Given the description of an element on the screen output the (x, y) to click on. 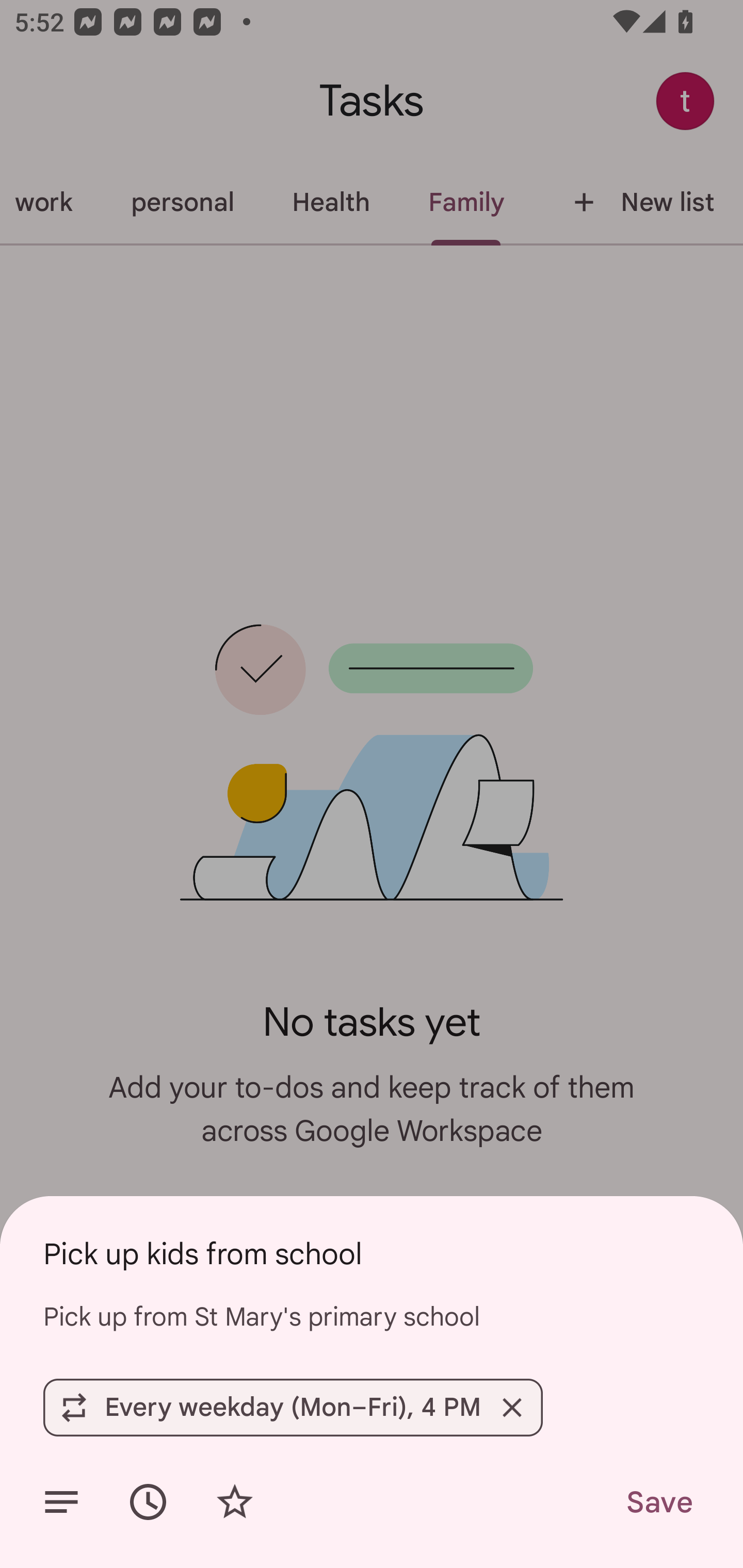
Pick up kids from school (371, 1253)
Pick up from St Mary's primary school (371, 1315)
Save (659, 1501)
Add details (60, 1501)
Set date/time (147, 1501)
Add star (234, 1501)
